Given the description of an element on the screen output the (x, y) to click on. 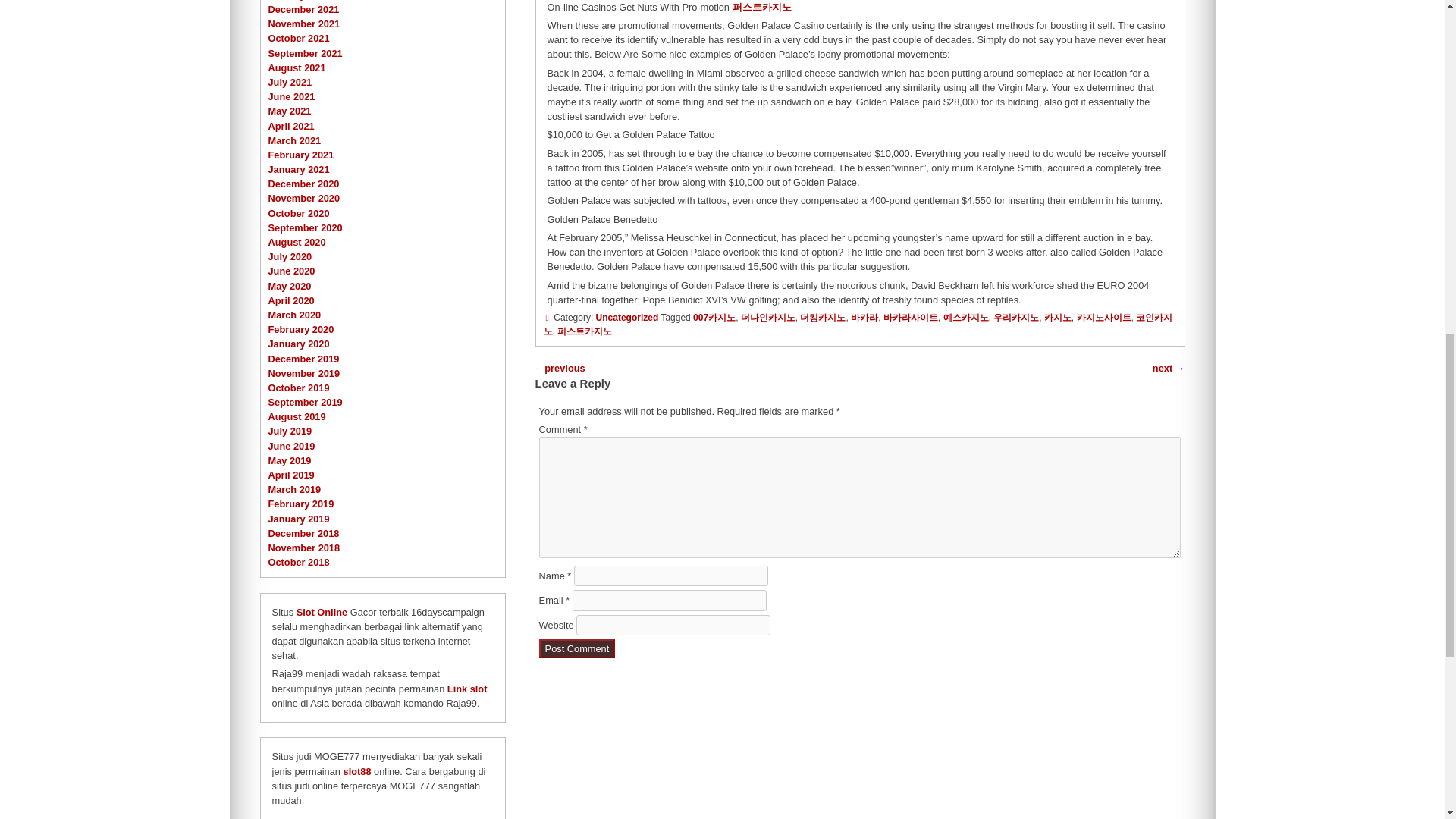
Post Comment (576, 648)
Post Comment (576, 648)
Uncategorized (627, 317)
